Given the description of an element on the screen output the (x, y) to click on. 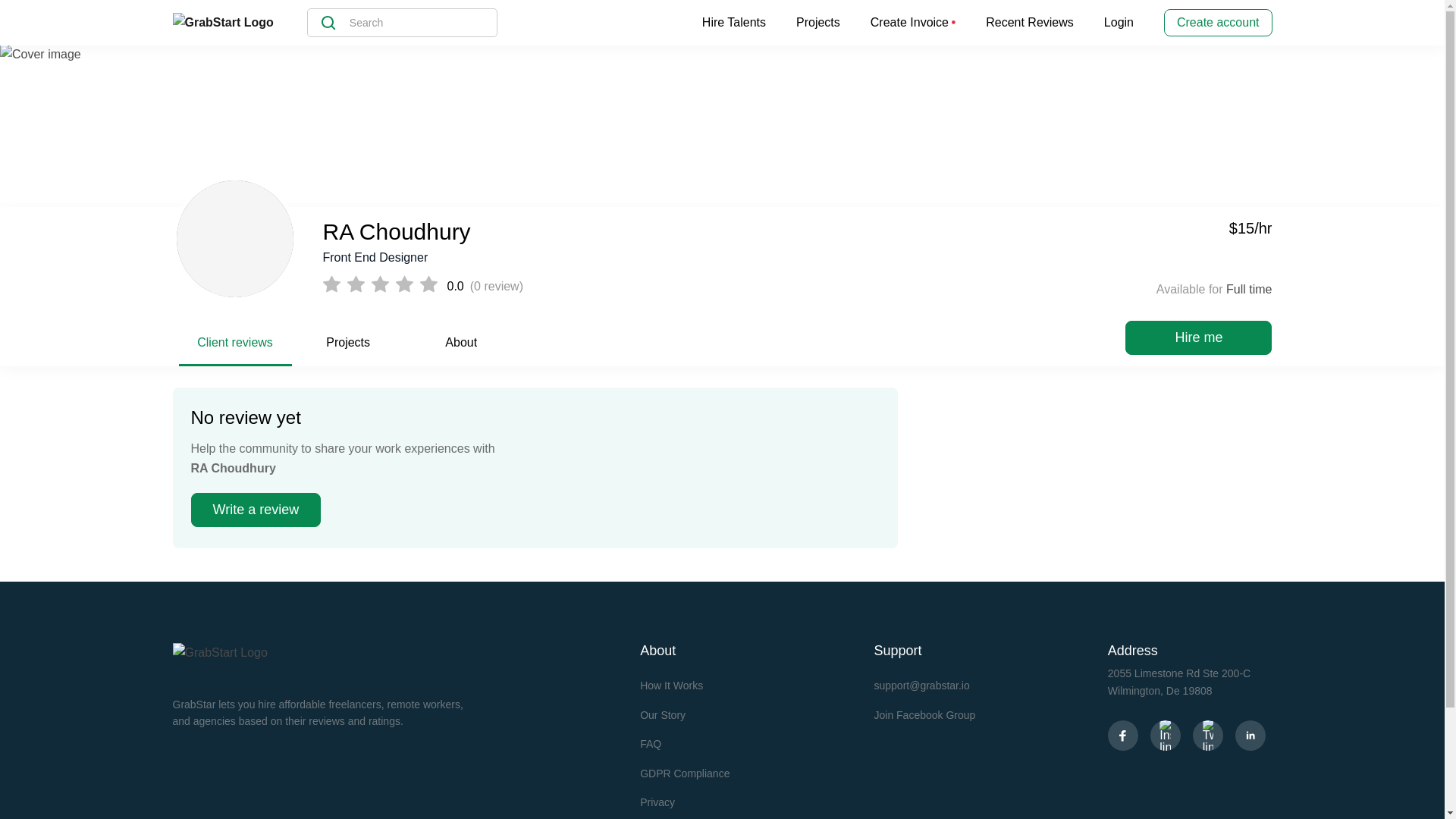
Hire me (1198, 337)
Client reviews (235, 349)
Privacy (657, 802)
FAQ (650, 743)
Login (1118, 22)
Our Story (662, 715)
Hire Talents (733, 22)
How It Works (671, 685)
GDPR Compliance (684, 773)
Front End Designer (657, 257)
Projects (348, 349)
Projects (818, 22)
Join Facebook Group (924, 715)
Recent Reviews (1029, 22)
Write a review (255, 510)
